Given the description of an element on the screen output the (x, y) to click on. 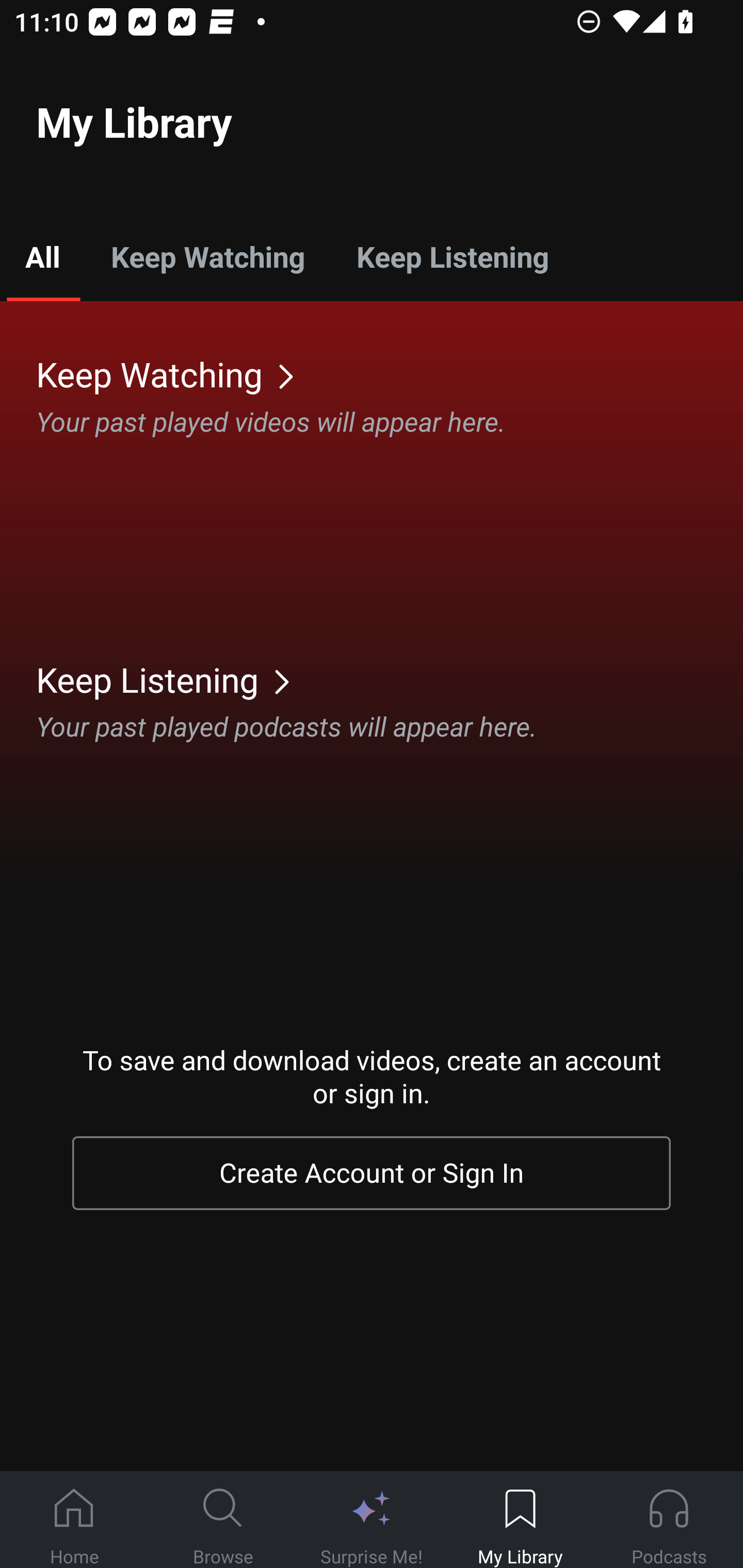
All (42, 256)
Keep Watching (207, 256)
Keep Listening (452, 256)
Keep Watching (389, 373)
Keep Listening (389, 679)
Create Account or Sign In (371, 1173)
Home (74, 1520)
Browse (222, 1520)
Surprise Me! (371, 1520)
My Library (519, 1520)
Podcasts (668, 1520)
